Given the description of an element on the screen output the (x, y) to click on. 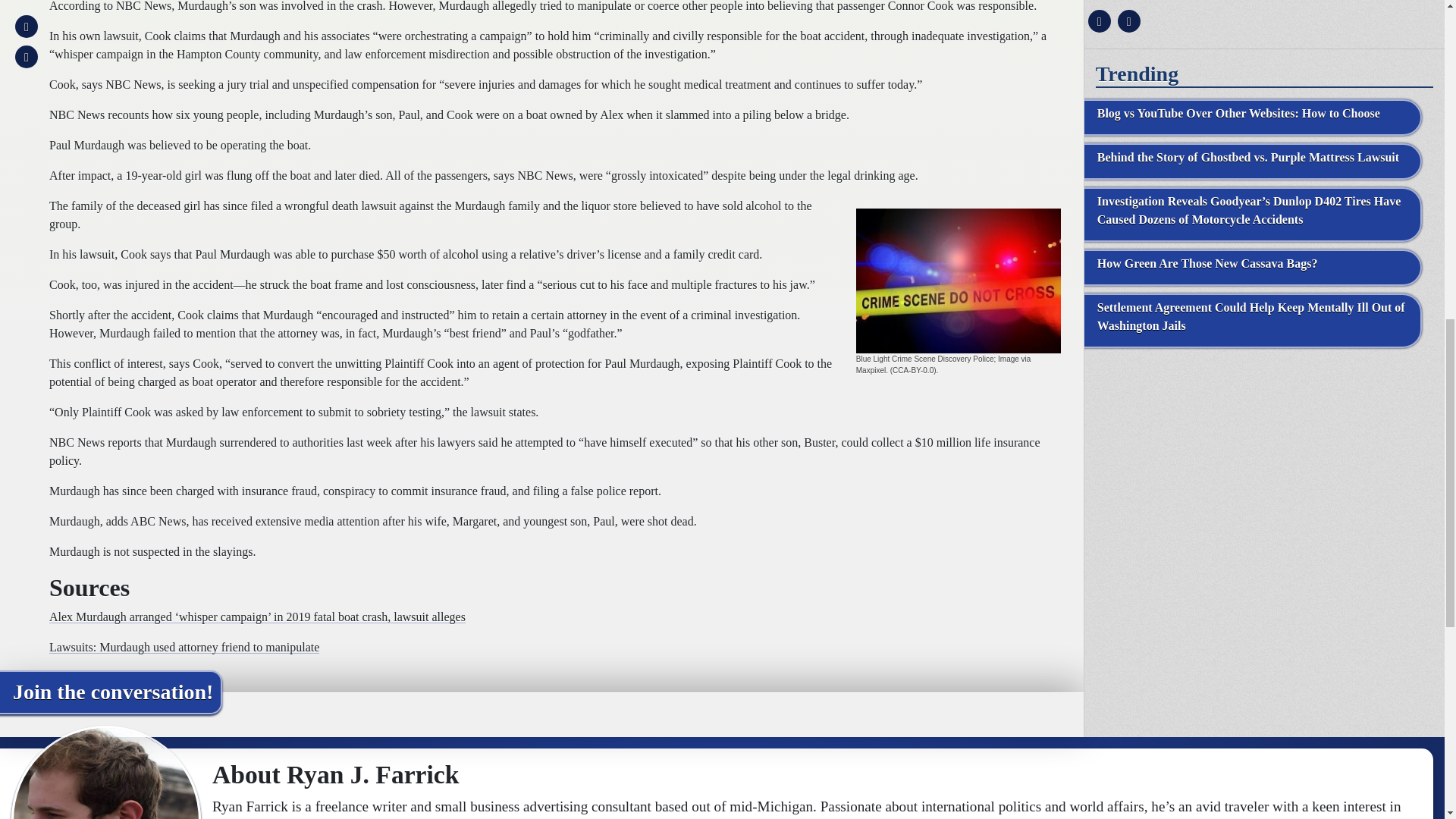
Lawsuits: Murdaugh used attorney friend to manipulate (183, 646)
